Given the description of an element on the screen output the (x, y) to click on. 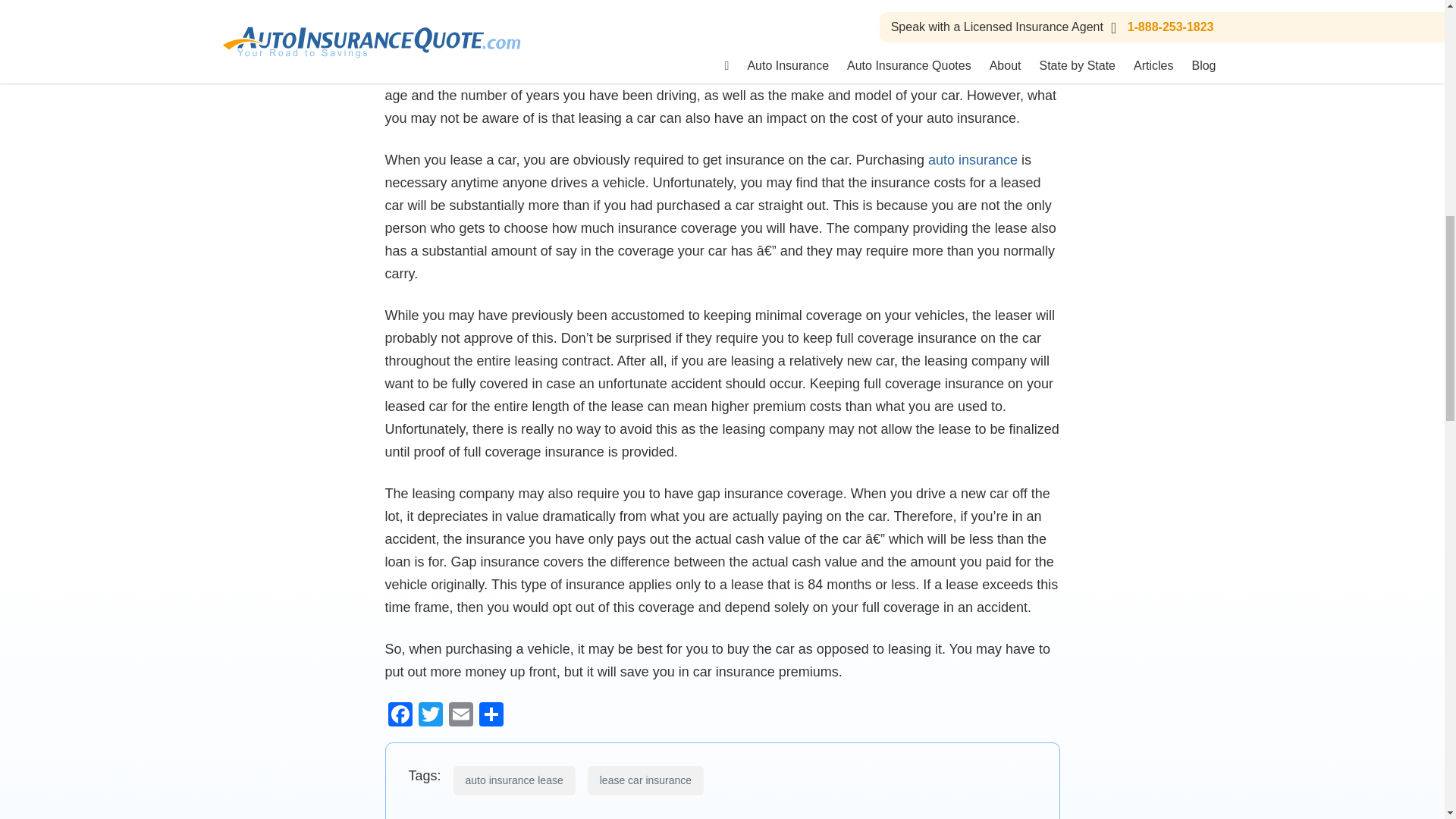
auto insurance (972, 159)
lease car insurance (645, 780)
auto insurance (972, 159)
Twitter (429, 715)
Twitter (429, 715)
Email (460, 715)
Facebook (399, 715)
auto insurance lease (513, 780)
Email (460, 715)
Facebook (399, 715)
